Given the description of an element on the screen output the (x, y) to click on. 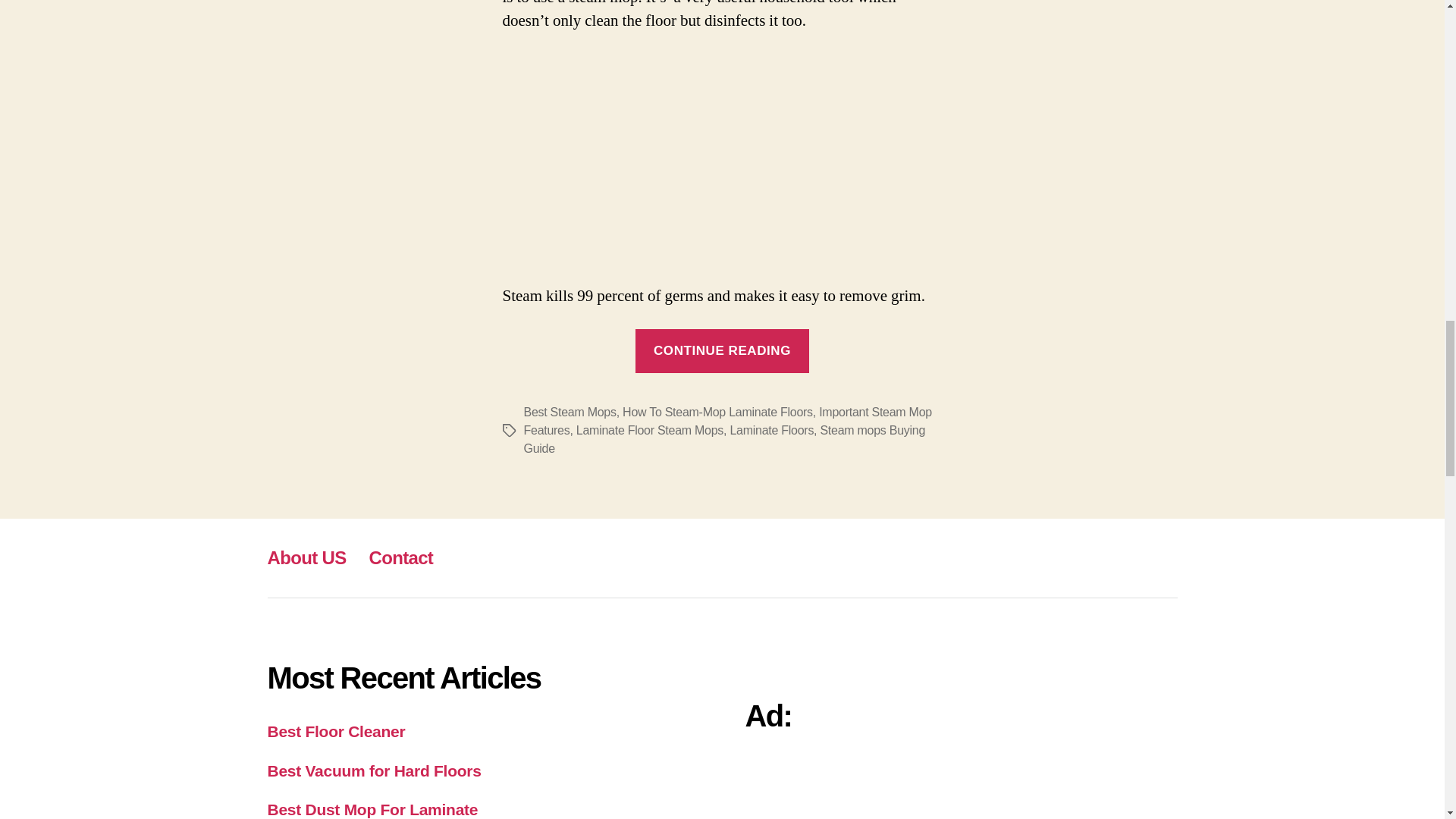
Important Steam Mop Features (726, 420)
How To Steam-Mop Laminate Floors (717, 411)
Advertisement (722, 159)
Laminate Floor Steam Mops (649, 430)
About US (306, 557)
Contact (400, 557)
Steam mops Buying Guide (723, 439)
Best Steam Mops (568, 411)
Best Floor Cleaner (335, 731)
Laminate Floors (771, 430)
